Given the description of an element on the screen output the (x, y) to click on. 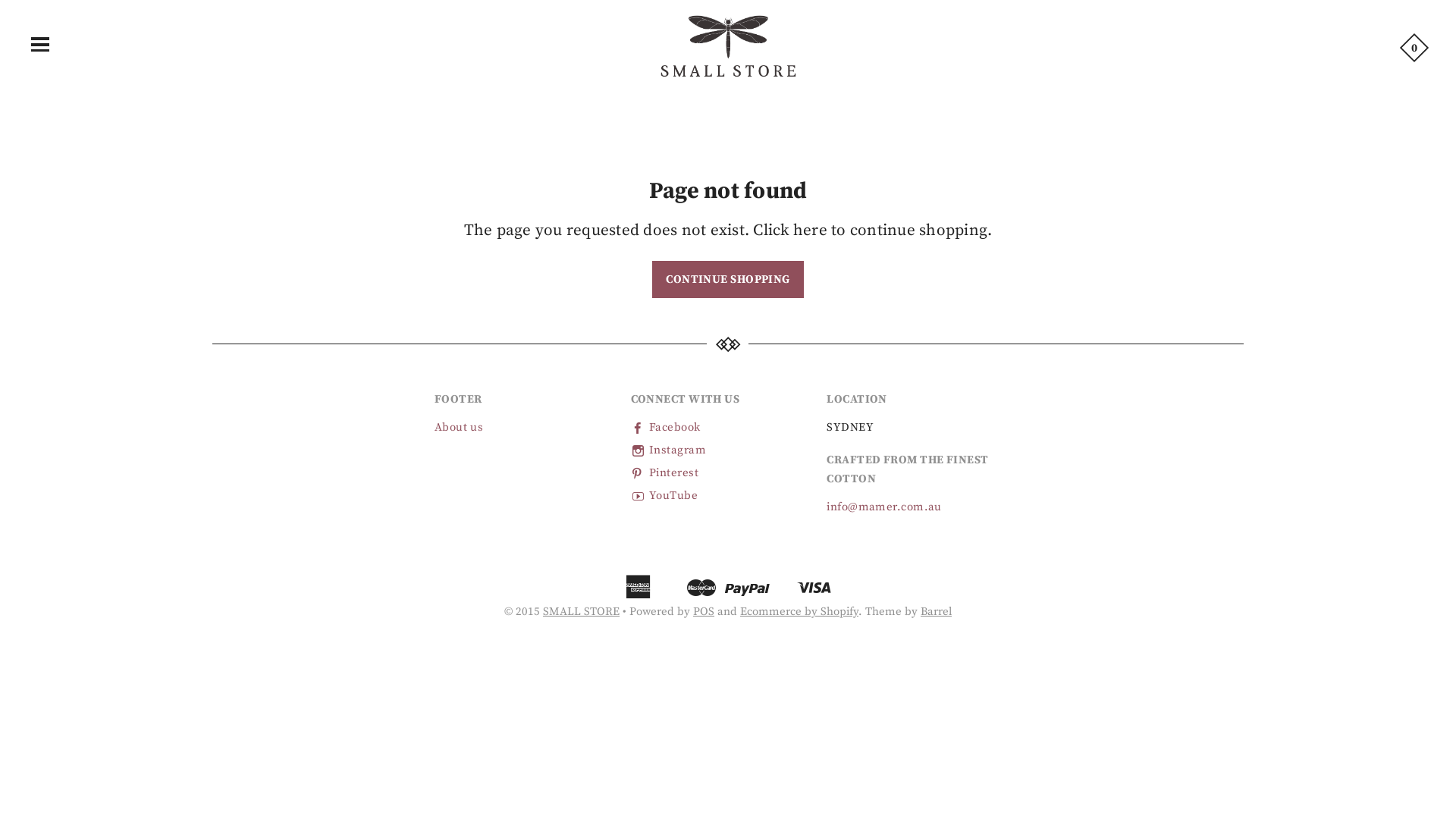
Barrel Element type: text (935, 611)
CONTINUE SHOPPING Element type: text (727, 279)
Pinterest Element type: text (664, 472)
Facebook Element type: text (665, 427)
SMALL STORE Element type: text (580, 611)
POS Element type: text (703, 611)
Ecommerce by Shopify Element type: text (799, 611)
Instagram Element type: text (668, 450)
0 Element type: text (1413, 47)
YouTube Element type: text (664, 495)
About us Element type: text (458, 427)
info@mamer.com.au Element type: text (883, 506)
